Given the description of an element on the screen output the (x, y) to click on. 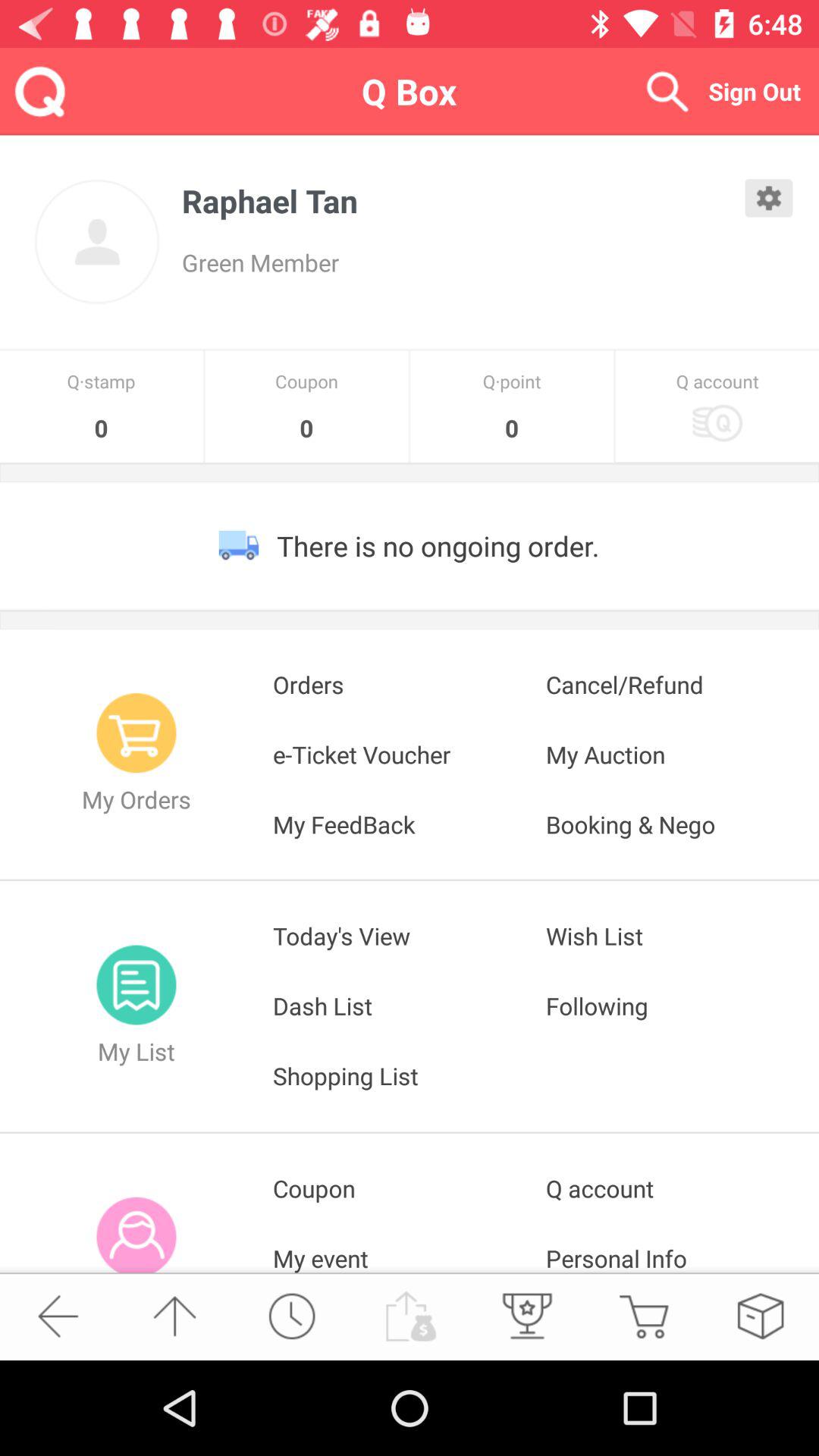
turn off the app above green member icon (463, 200)
